Given the description of an element on the screen output the (x, y) to click on. 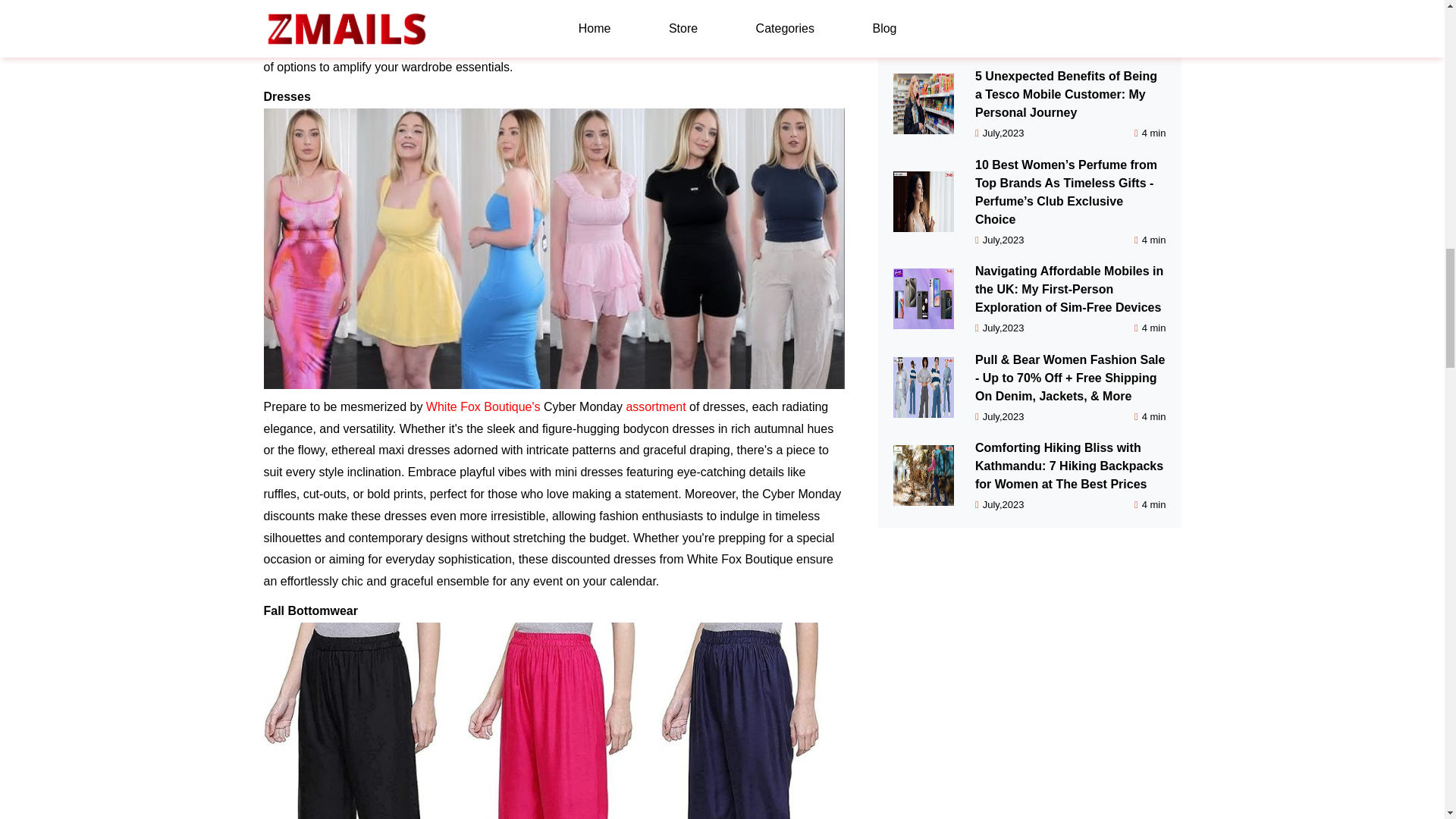
assortment (655, 406)
White Fox Boutique's (483, 406)
